Given the description of an element on the screen output the (x, y) to click on. 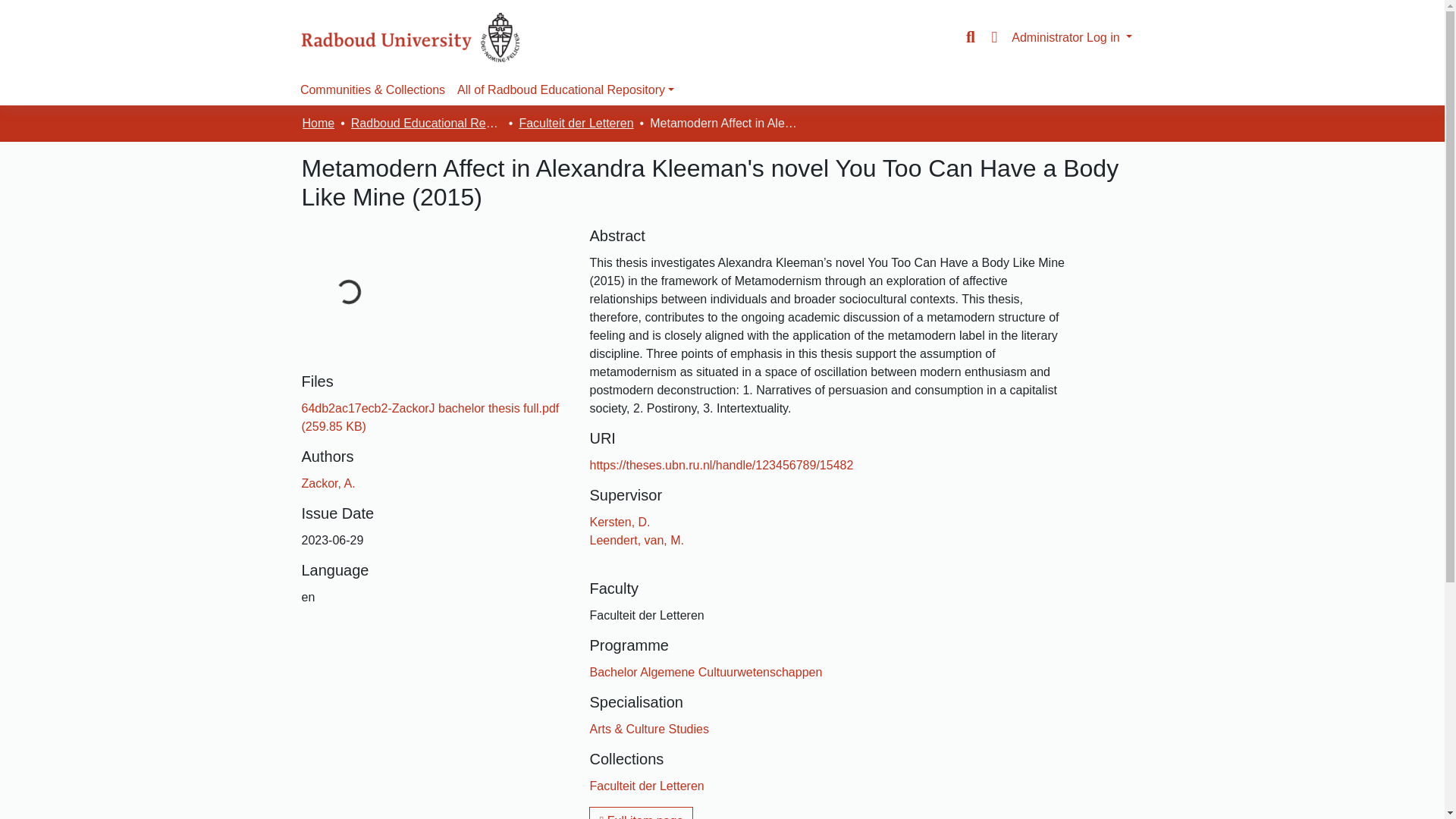
Kersten, D. (619, 521)
Zackor, A. (328, 482)
Full item page (641, 812)
Leendert, van, M. (636, 540)
Home (317, 123)
Administrator Log in (1072, 36)
All of Radboud Educational Repository (565, 90)
Language switch (993, 37)
Search (970, 37)
Bachelor Algemene Cultuurwetenschappen (705, 671)
Faculteit der Letteren (575, 123)
Faculteit der Letteren (646, 785)
Radboud Educational Repository (426, 123)
